Given the description of an element on the screen output the (x, y) to click on. 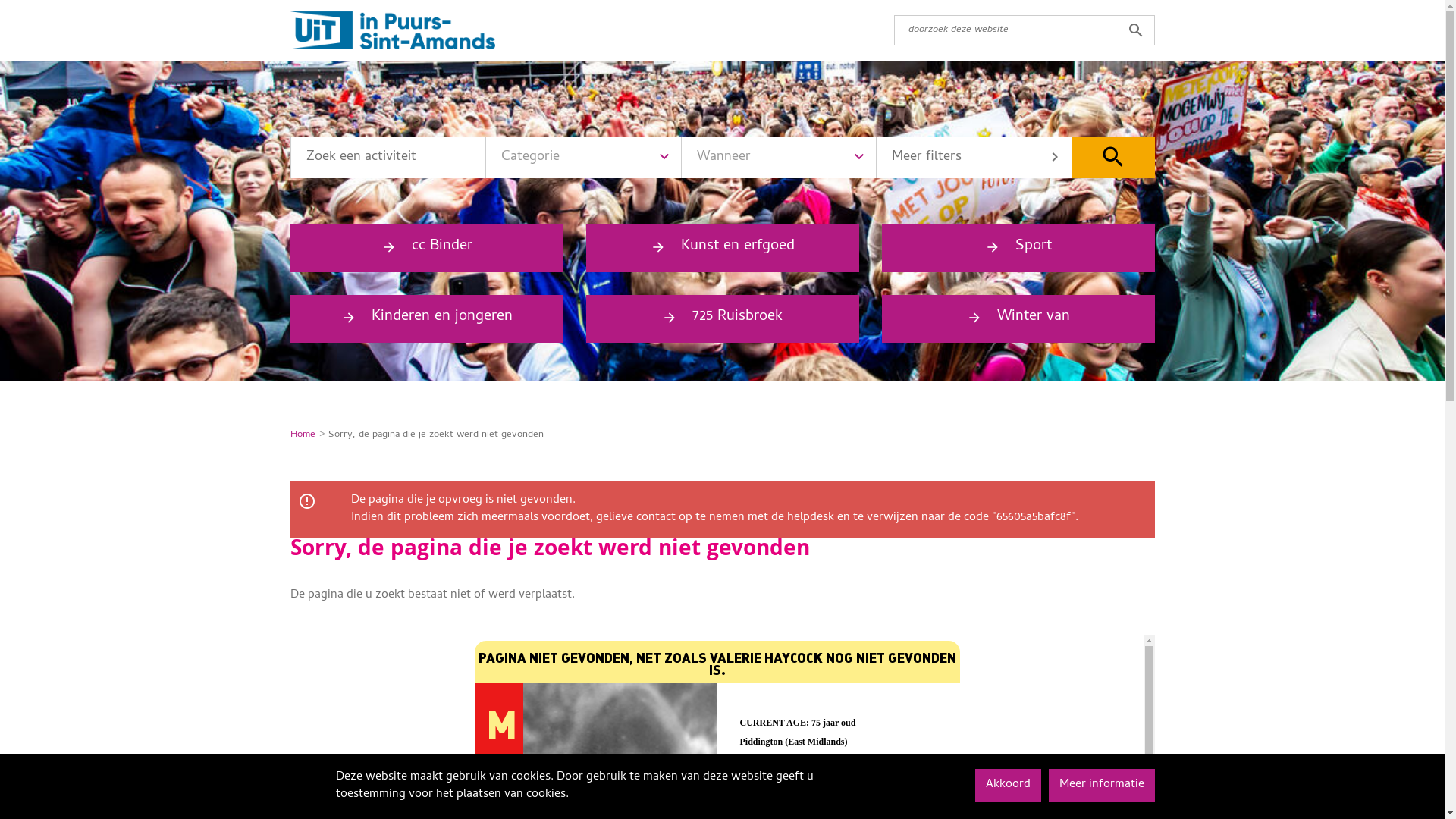
arrow_forwardSport Element type: text (1017, 248)
Categorie Element type: text (582, 157)
search
Zoeken Element type: text (1112, 157)
Meer informatie Element type: text (1101, 784)
Akkoord Element type: text (1008, 784)
arrow_forward725 Ruisbroek Element type: text (721, 318)
Meer filters Element type: text (973, 157)
arrow_forwardcc Binder Element type: text (425, 248)
Home Element type: text (301, 434)
Wanneer Element type: text (778, 157)
arrow_forwardWinter van Element type: text (1017, 318)
arrow_forwardKinderen en jongeren Element type: text (425, 318)
Ga naar de startpagina Element type: hover (392, 30)
arrow_forwardKunst en erfgoed Element type: text (721, 248)
doorzoek deze website Element type: text (1023, 30)
